Given the description of an element on the screen output the (x, y) to click on. 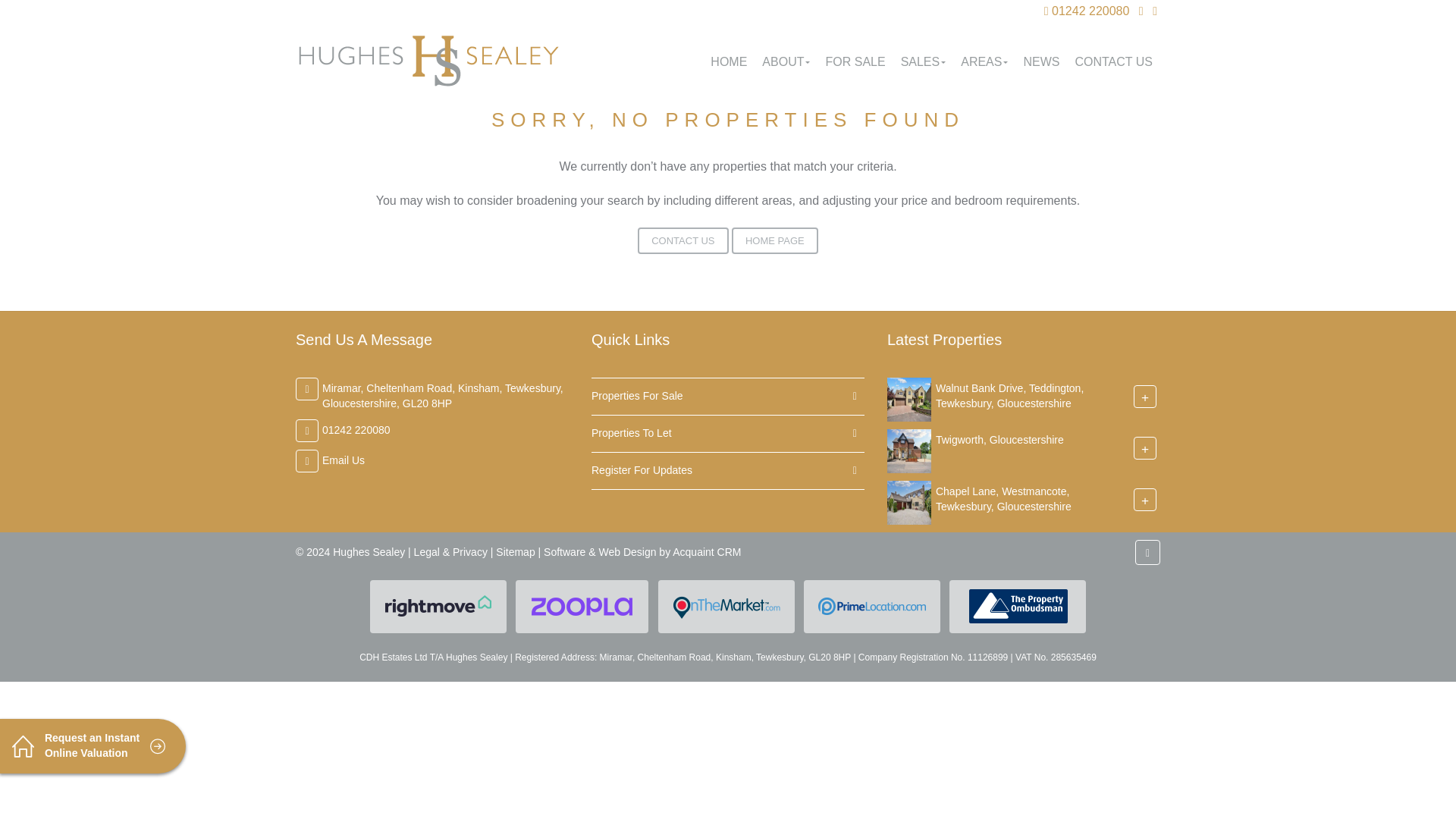
Register For Updates (727, 470)
Property For Sale Walnut Bank Drive, Teddington, Tewkesbury (908, 398)
Properties To Let (727, 433)
Properties For Sale (727, 396)
01242 220080 (1086, 10)
Call Us (1086, 10)
Property For Sale Chapel Lane, Westmancote, Tewkesbury (908, 501)
CONTACT US (682, 240)
Email Us (343, 460)
01242 220080 (355, 429)
FOR SALE (854, 61)
Sitemap (515, 551)
CONTACT US (1113, 61)
HOME PAGE (775, 240)
Property For Sale Tewkesbury Road, Twigworth, Gloucester (908, 450)
